Given the description of an element on the screen output the (x, y) to click on. 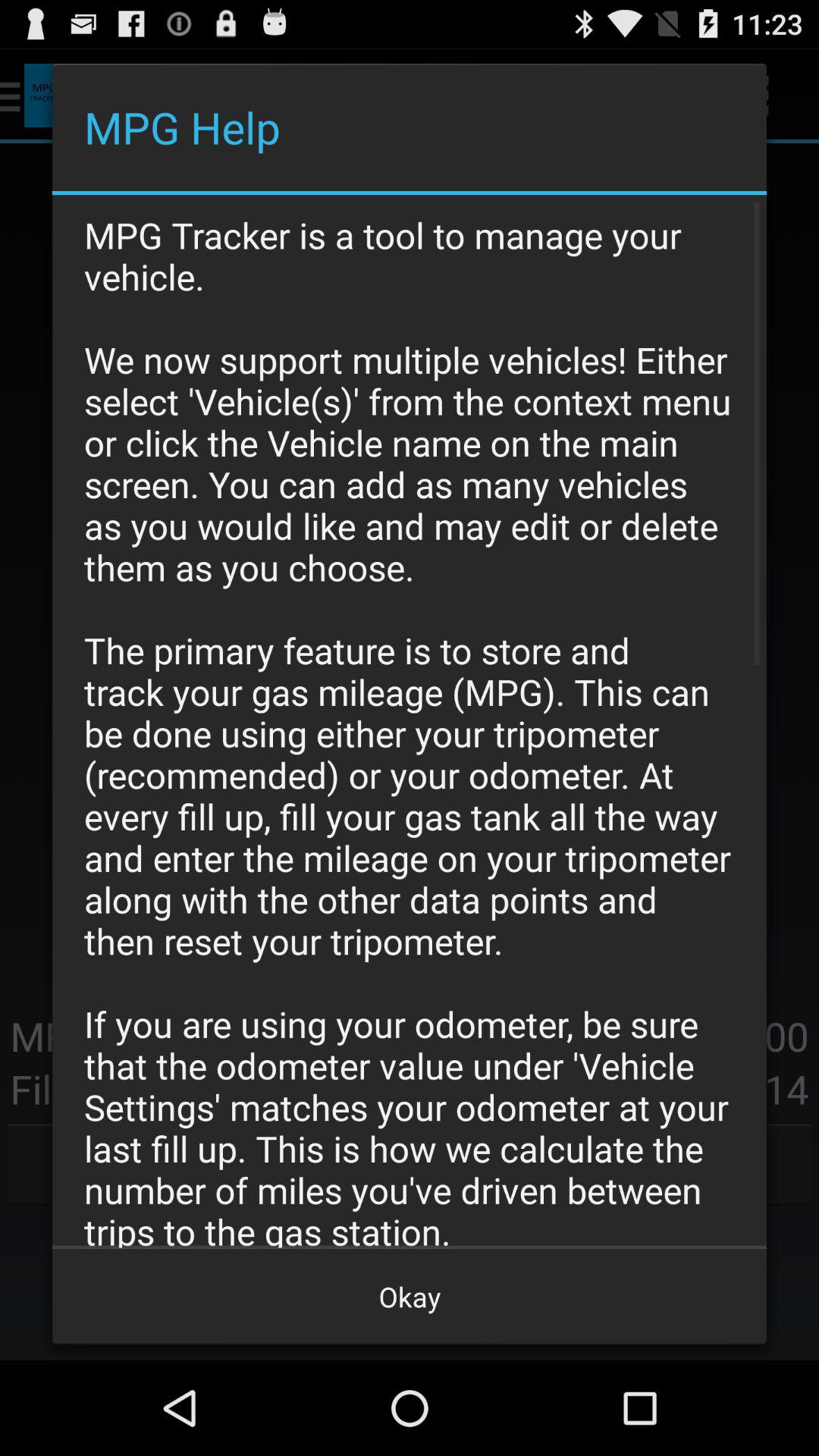
select mpg tracker is item (409, 721)
